Given the description of an element on the screen output the (x, y) to click on. 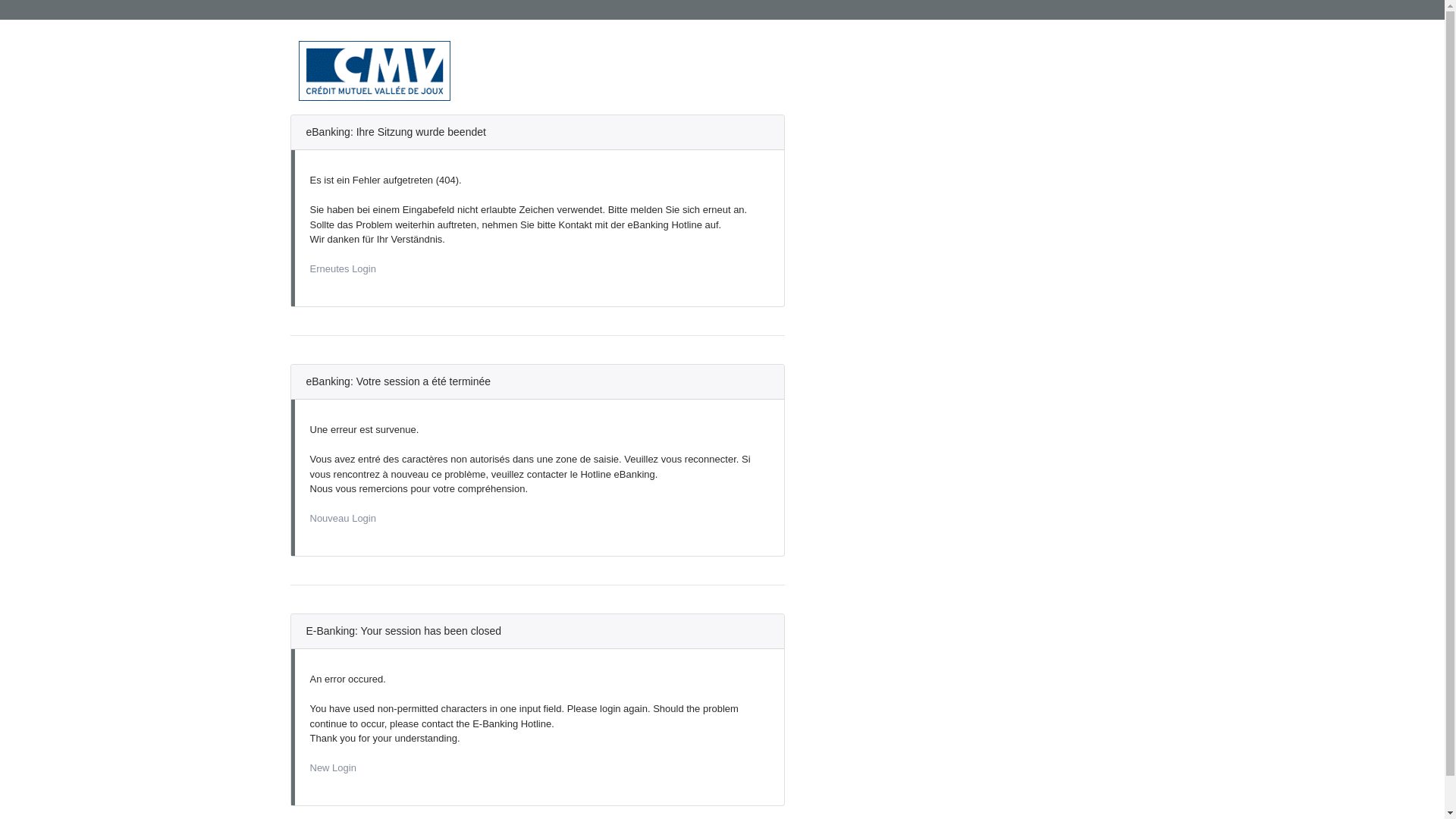
New Login Element type: text (332, 767)
Nouveau Login Element type: text (342, 518)
Erneutes Login Element type: text (342, 268)
